Given the description of an element on the screen output the (x, y) to click on. 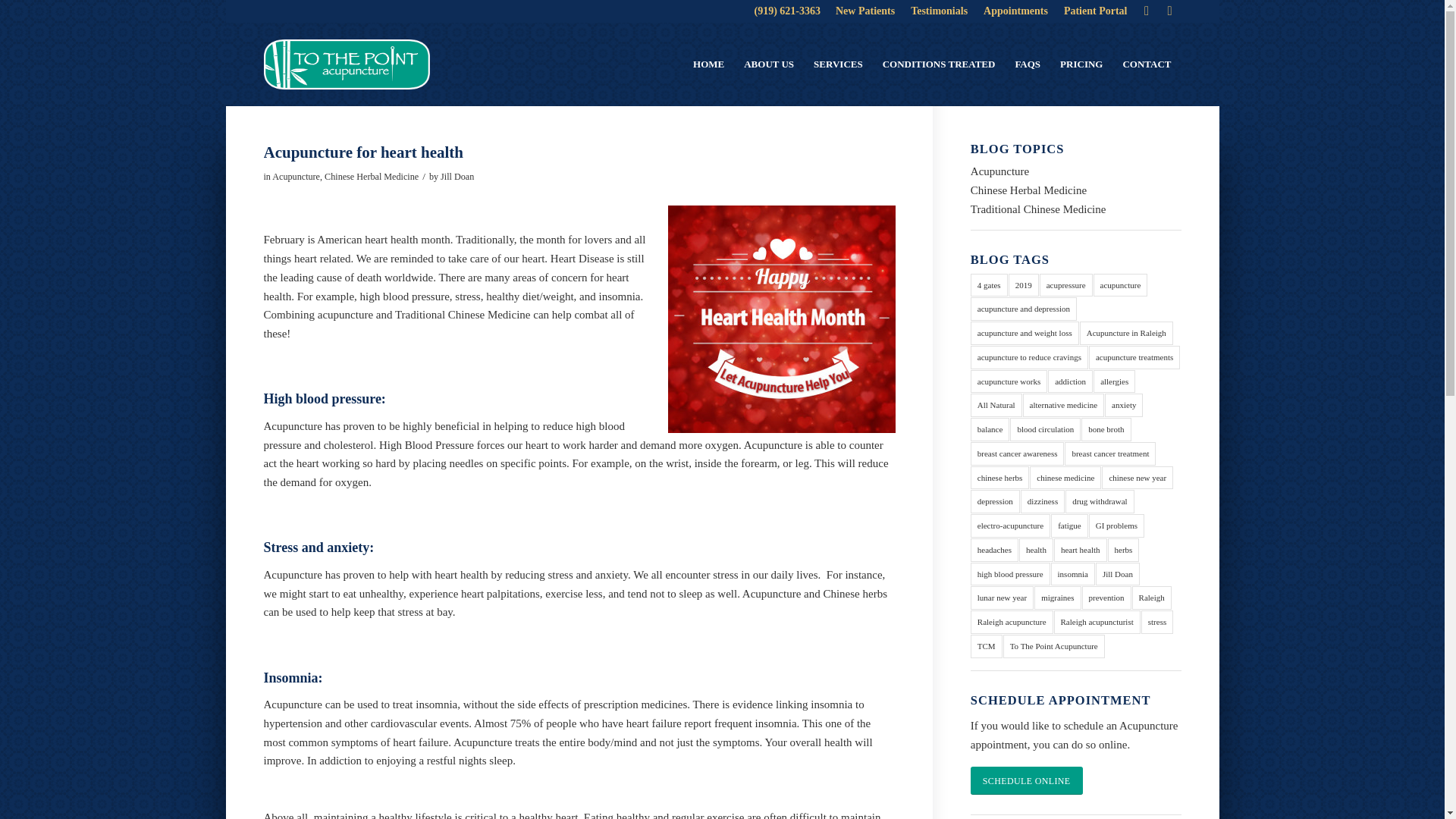
New Patients (865, 11)
Chinese Herbal Medicine (371, 176)
To The Point Acupuncture logo (346, 64)
Jill Doan (457, 176)
Acupuncture (296, 176)
Testimonials (939, 11)
Posts by Jill Doan (457, 176)
